Given the description of an element on the screen output the (x, y) to click on. 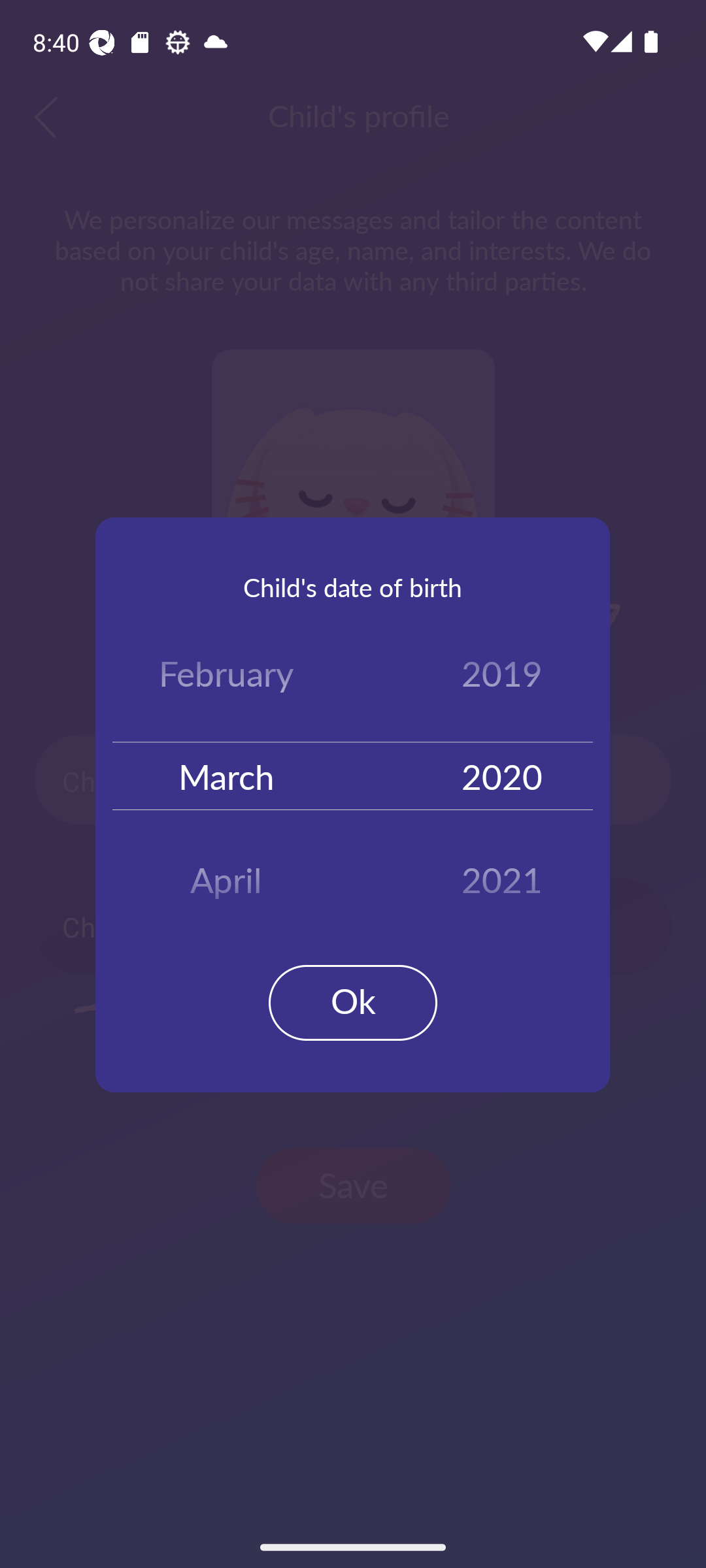
February (226, 676)
2019 (501, 676)
March (226, 774)
2020 (501, 774)
April (226, 872)
2021 (501, 872)
Ok (352, 1002)
